Given the description of an element on the screen output the (x, y) to click on. 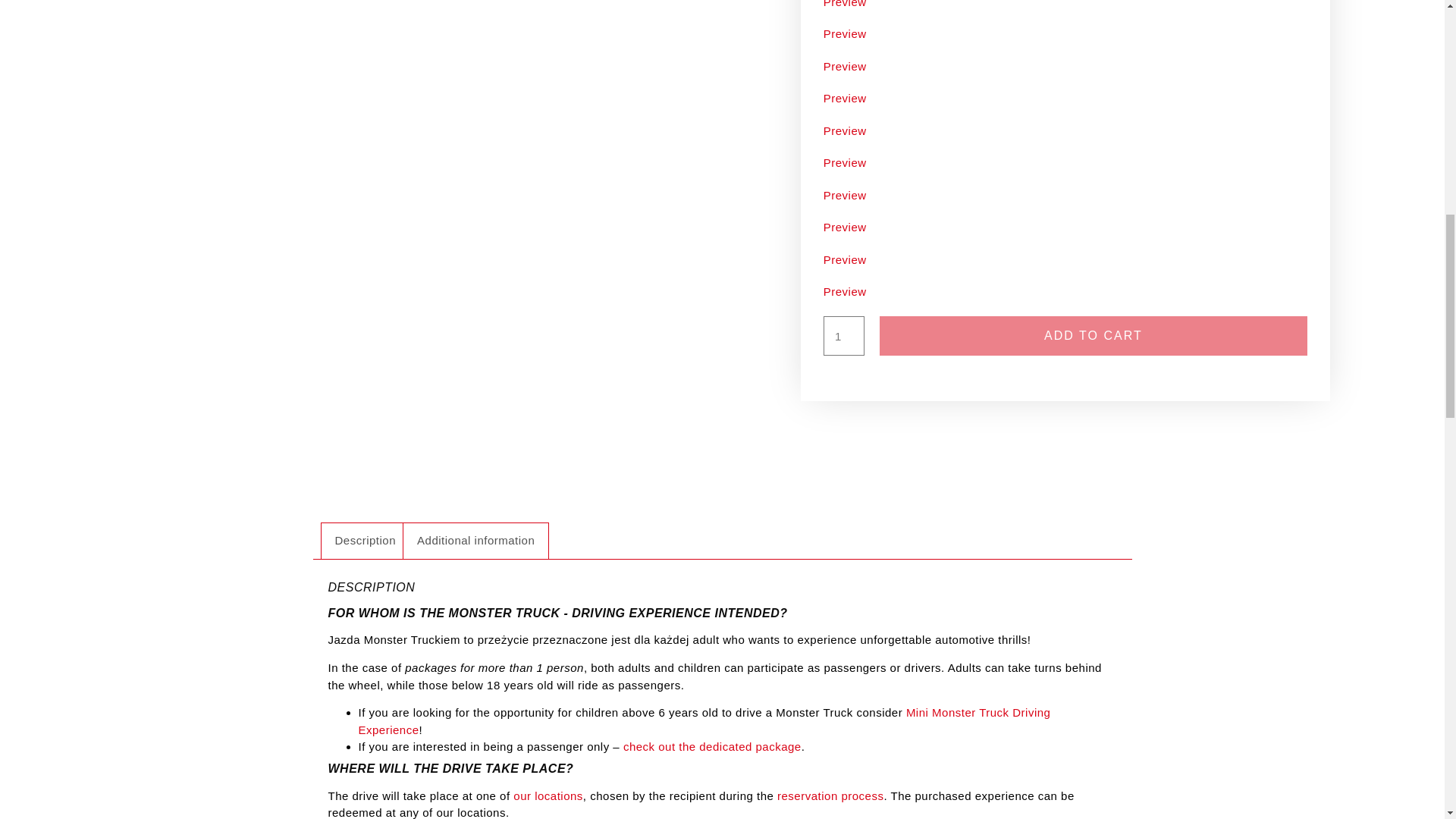
1 (844, 336)
Preview (1065, 131)
Preview (1065, 34)
Preview (1065, 98)
Preview (1065, 67)
Preview (1065, 5)
